Given the description of an element on the screen output the (x, y) to click on. 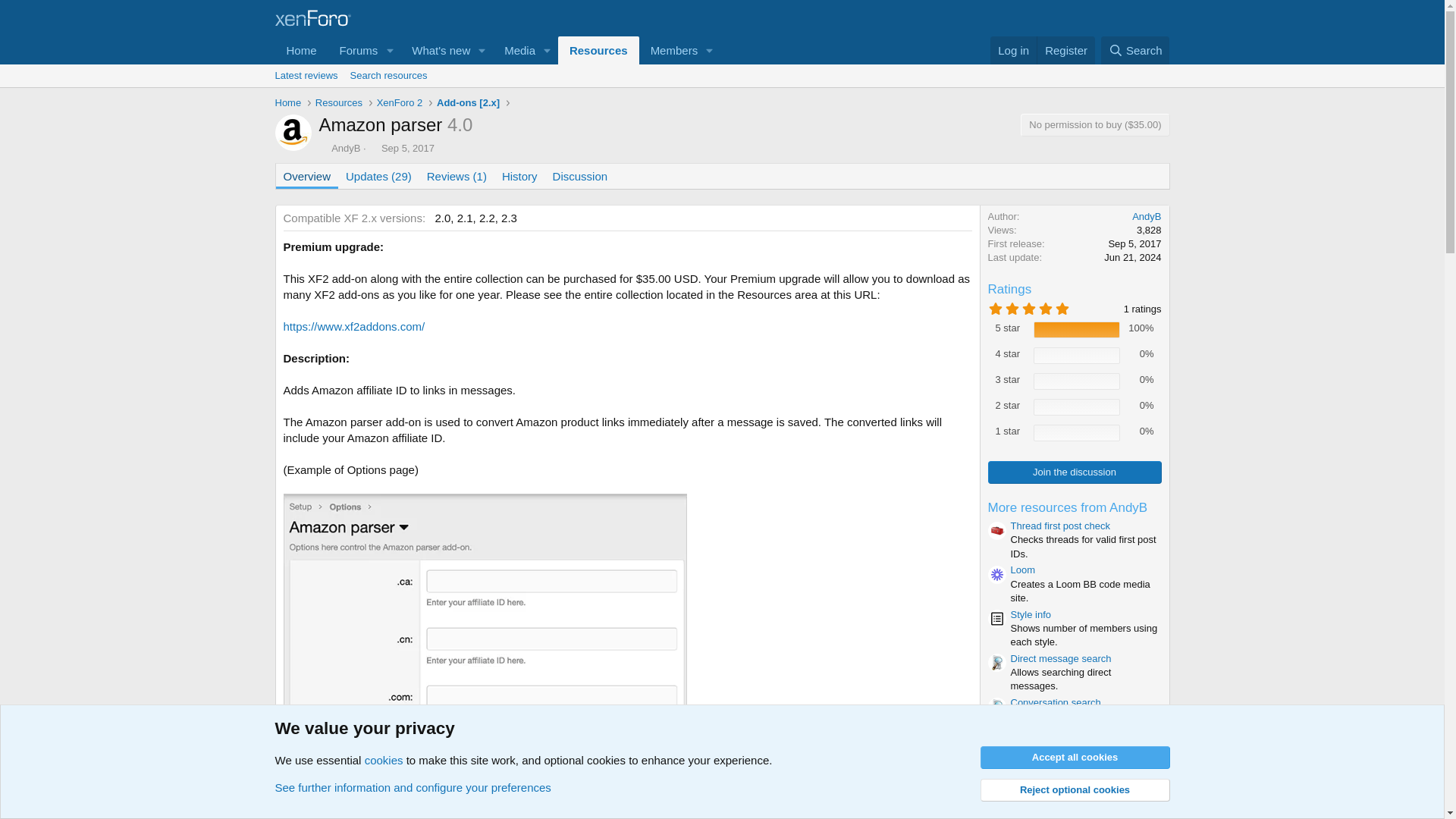
Jun 21, 2024 at 7:46 PM (1131, 256)
pic001.webp (485, 656)
Media (720, 92)
Author (497, 67)
What's new (515, 50)
Forums (497, 50)
Register (323, 147)
Search (435, 50)
Latest reviews (354, 50)
Log in (1065, 50)
Search (1135, 50)
Members (305, 75)
